Given the description of an element on the screen output the (x, y) to click on. 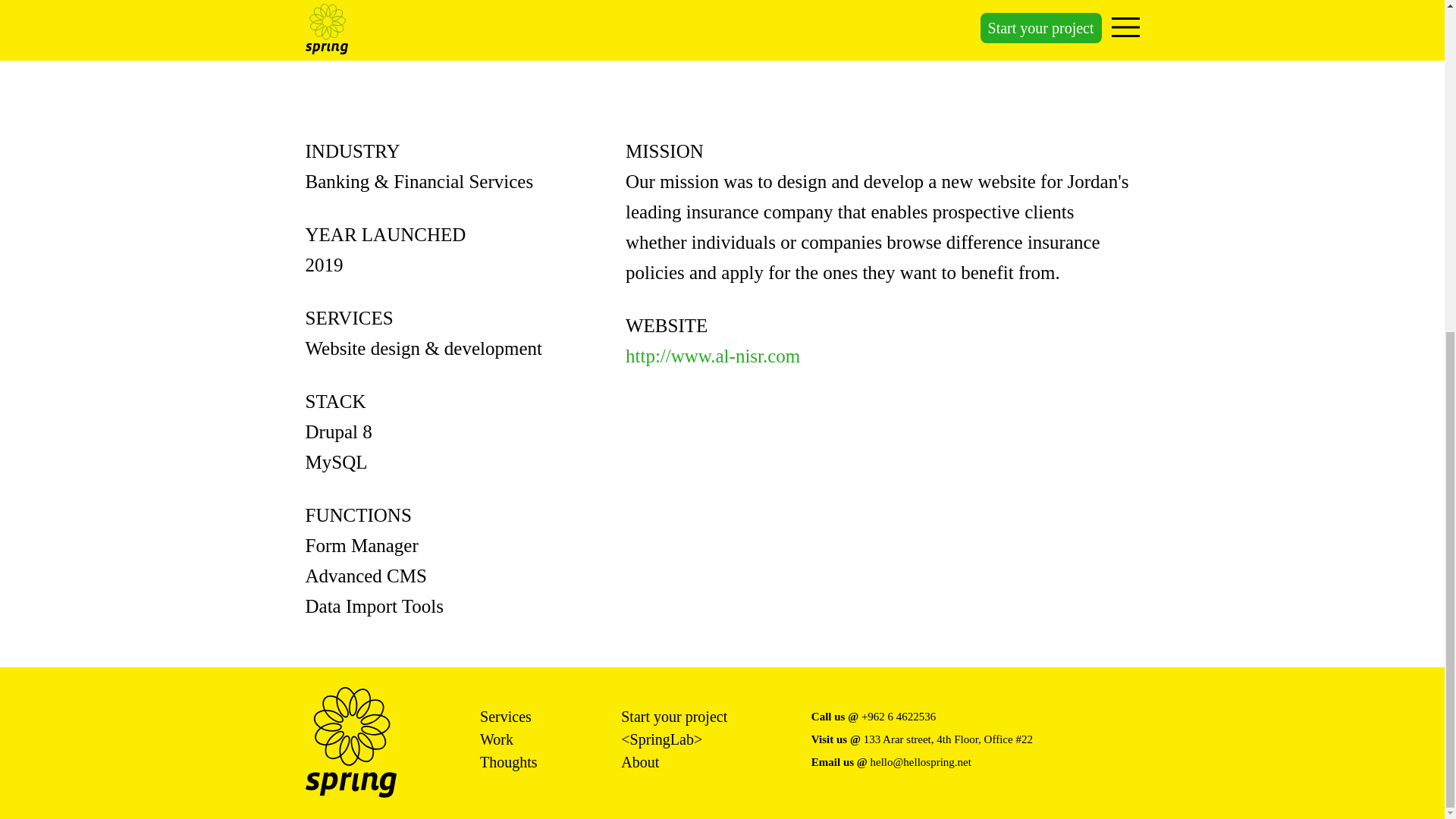
Services (505, 716)
About (640, 761)
Work (496, 739)
Start your project (673, 716)
Thoughts (508, 761)
